Given the description of an element on the screen output the (x, y) to click on. 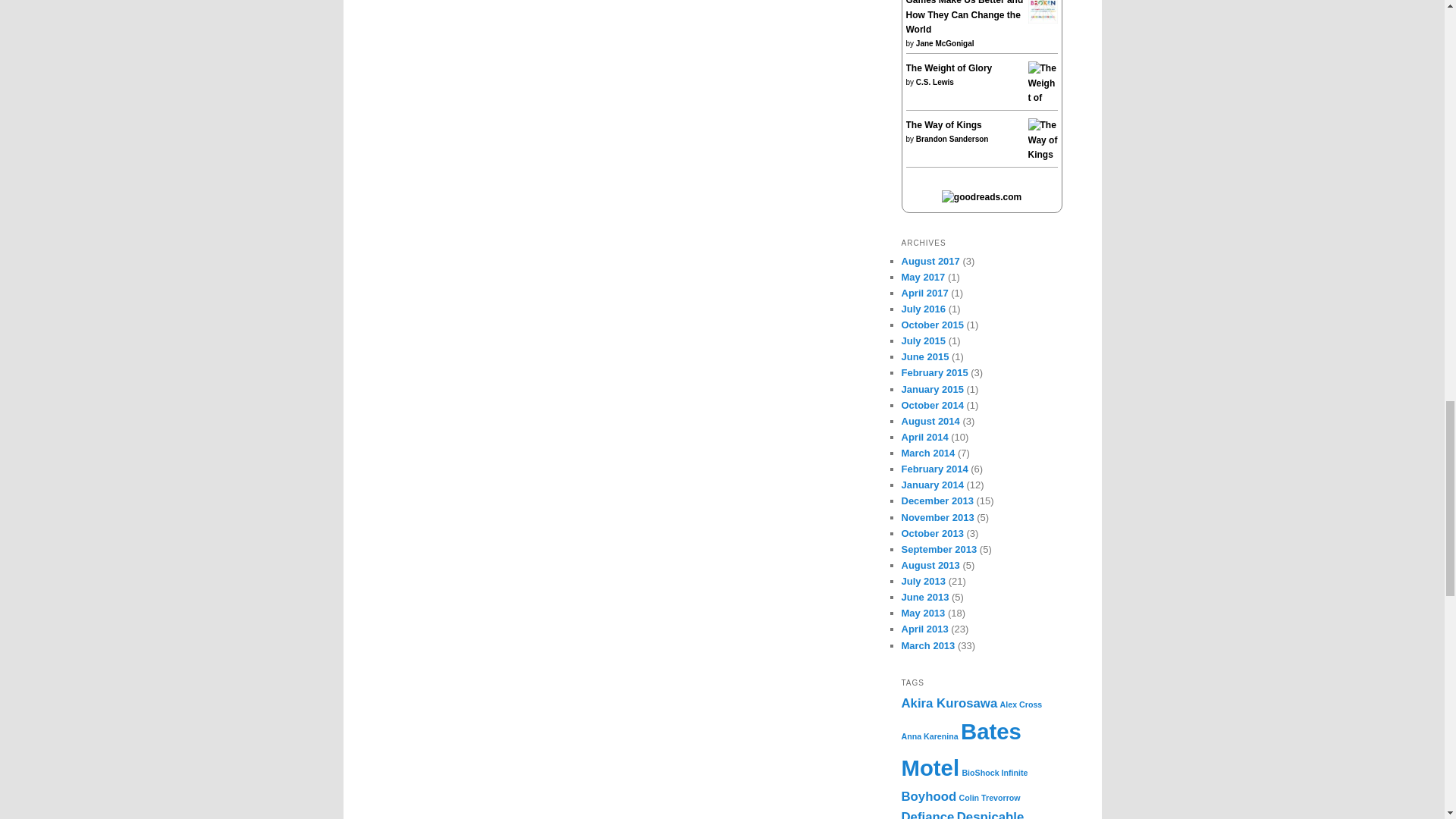
The Weight of Glory (1042, 112)
